Given the description of an element on the screen output the (x, y) to click on. 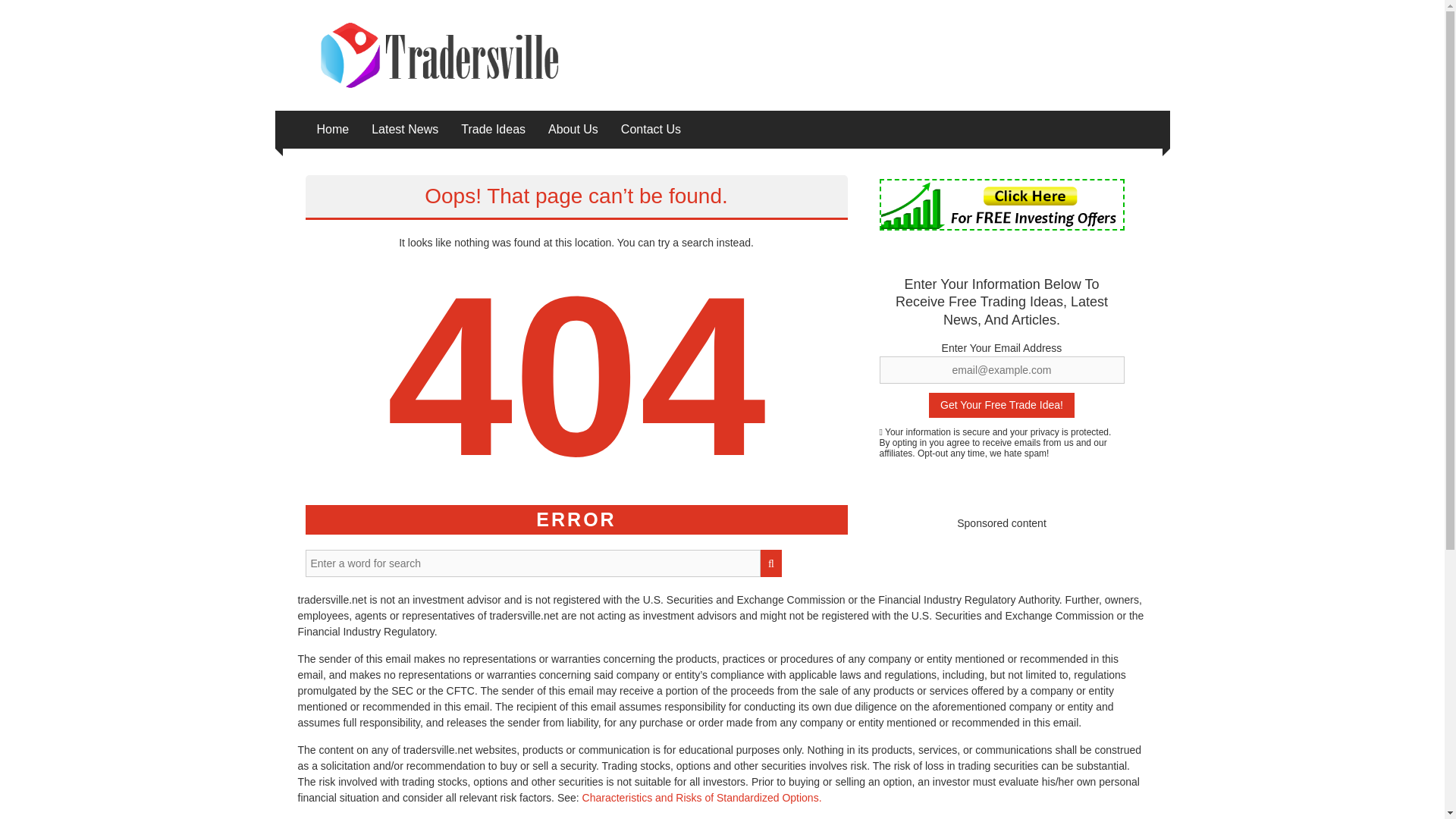
About Us (573, 129)
Contact Us (651, 129)
Get Your Free Trade Idea! (1001, 405)
Latest News (404, 129)
Trade Ideas (493, 129)
Characteristics and Risks of Standardized Options. (702, 797)
